Given the description of an element on the screen output the (x, y) to click on. 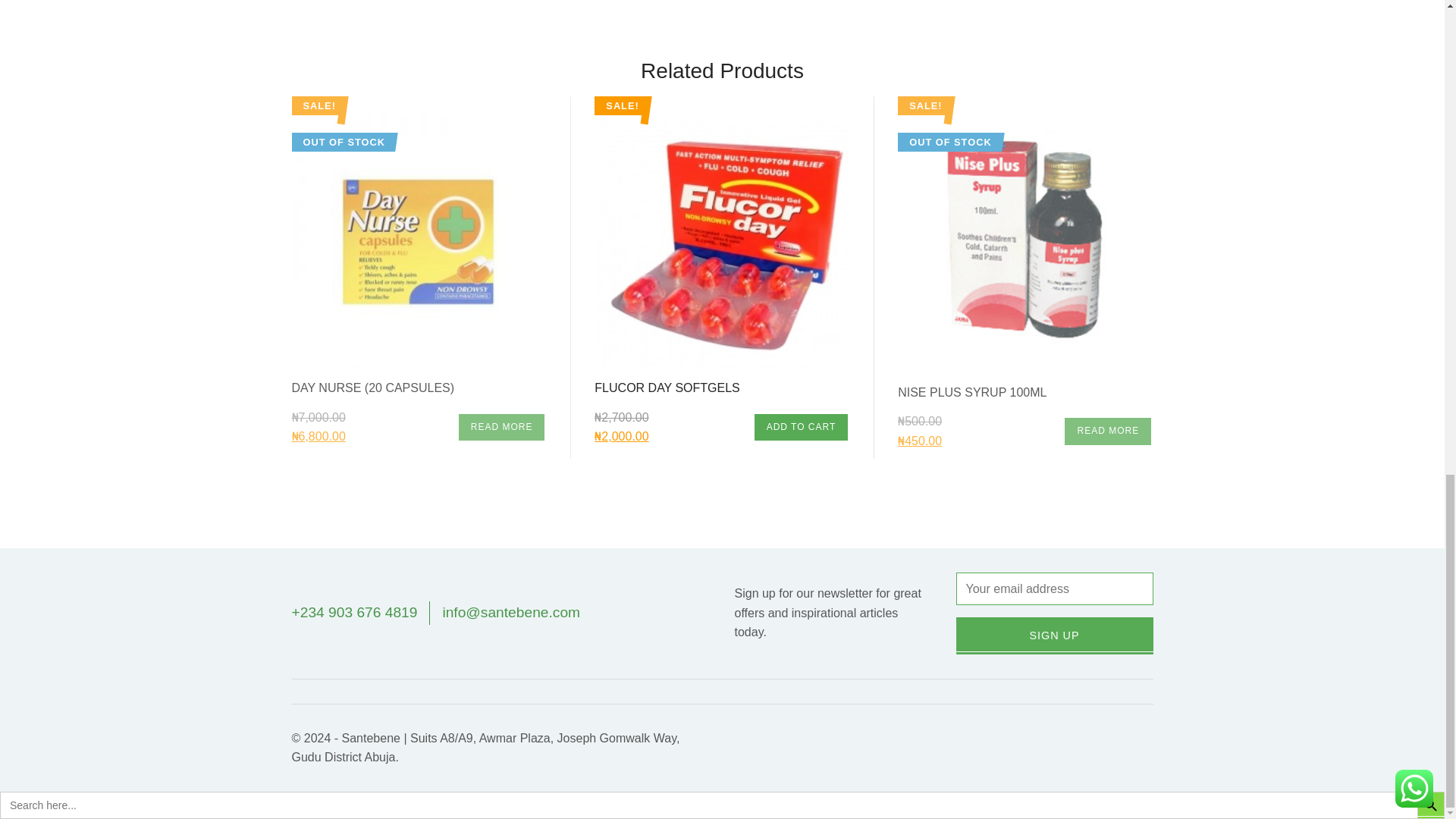
Sign up (1054, 635)
